Given the description of an element on the screen output the (x, y) to click on. 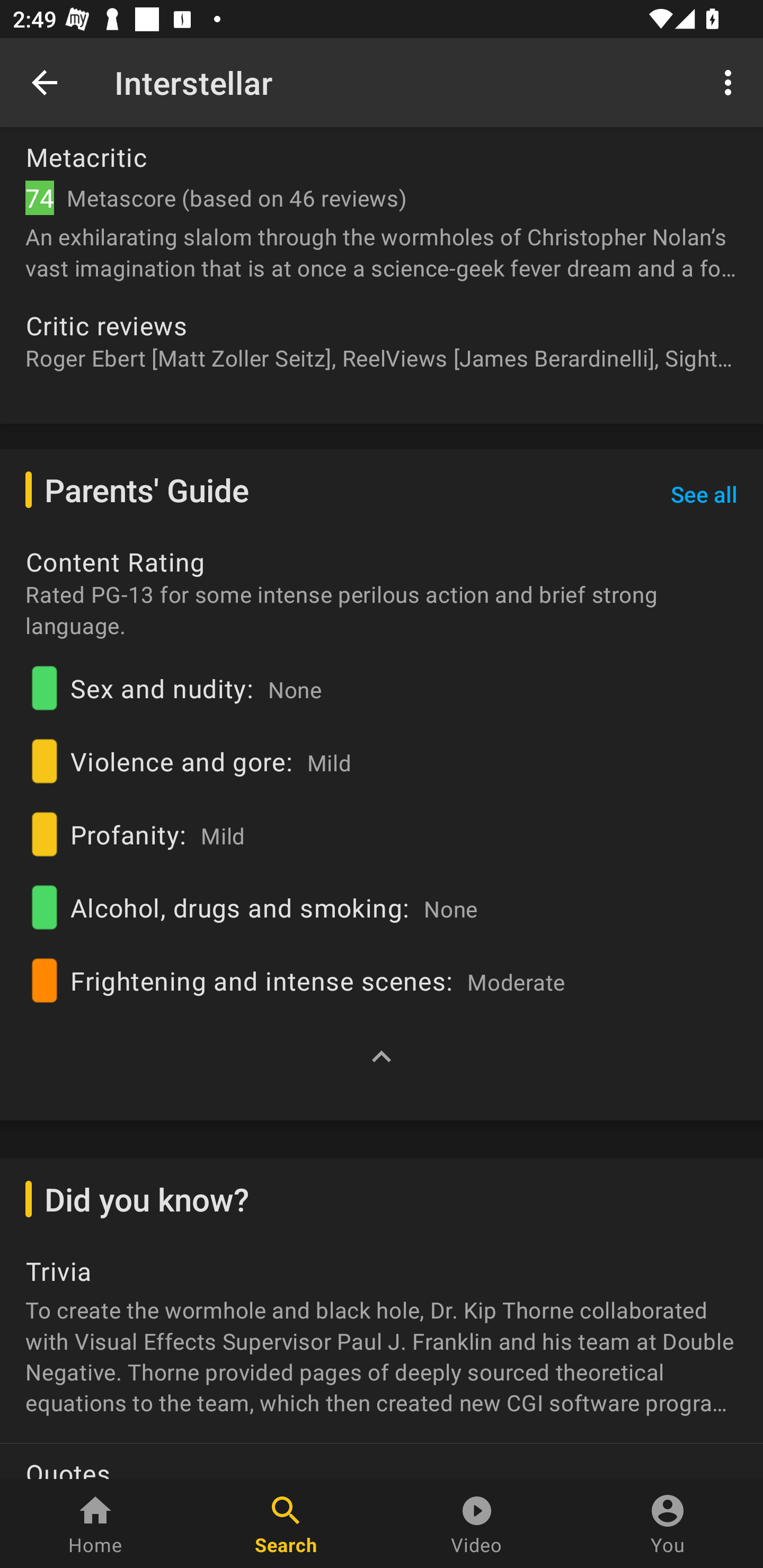
More options (731, 81)
See all See all  (703, 494)
Home (95, 1523)
Video (476, 1523)
You (667, 1523)
